Given the description of an element on the screen output the (x, y) to click on. 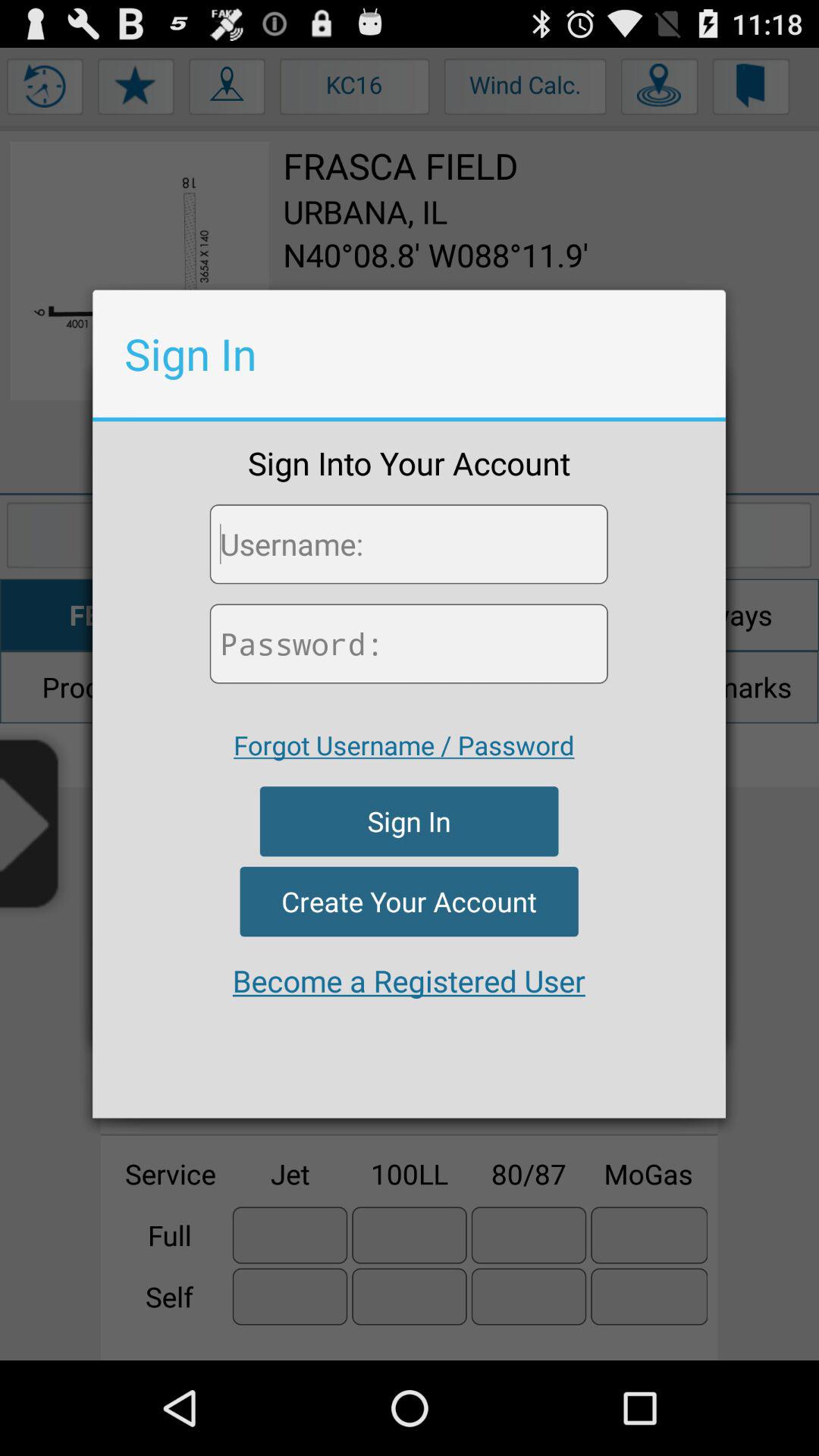
enter your password (408, 643)
